Given the description of an element on the screen output the (x, y) to click on. 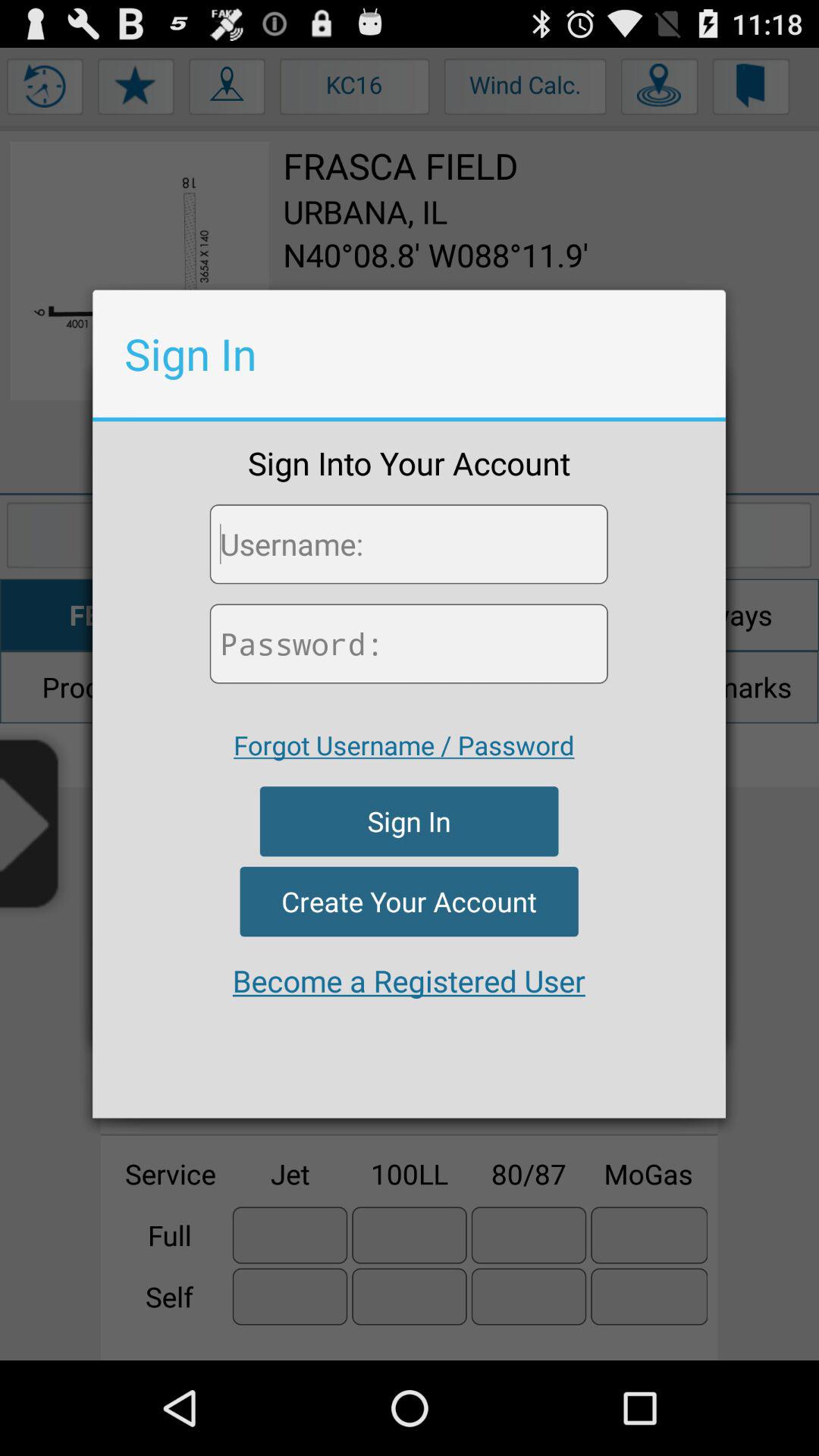
enter your password (408, 643)
